Given the description of an element on the screen output the (x, y) to click on. 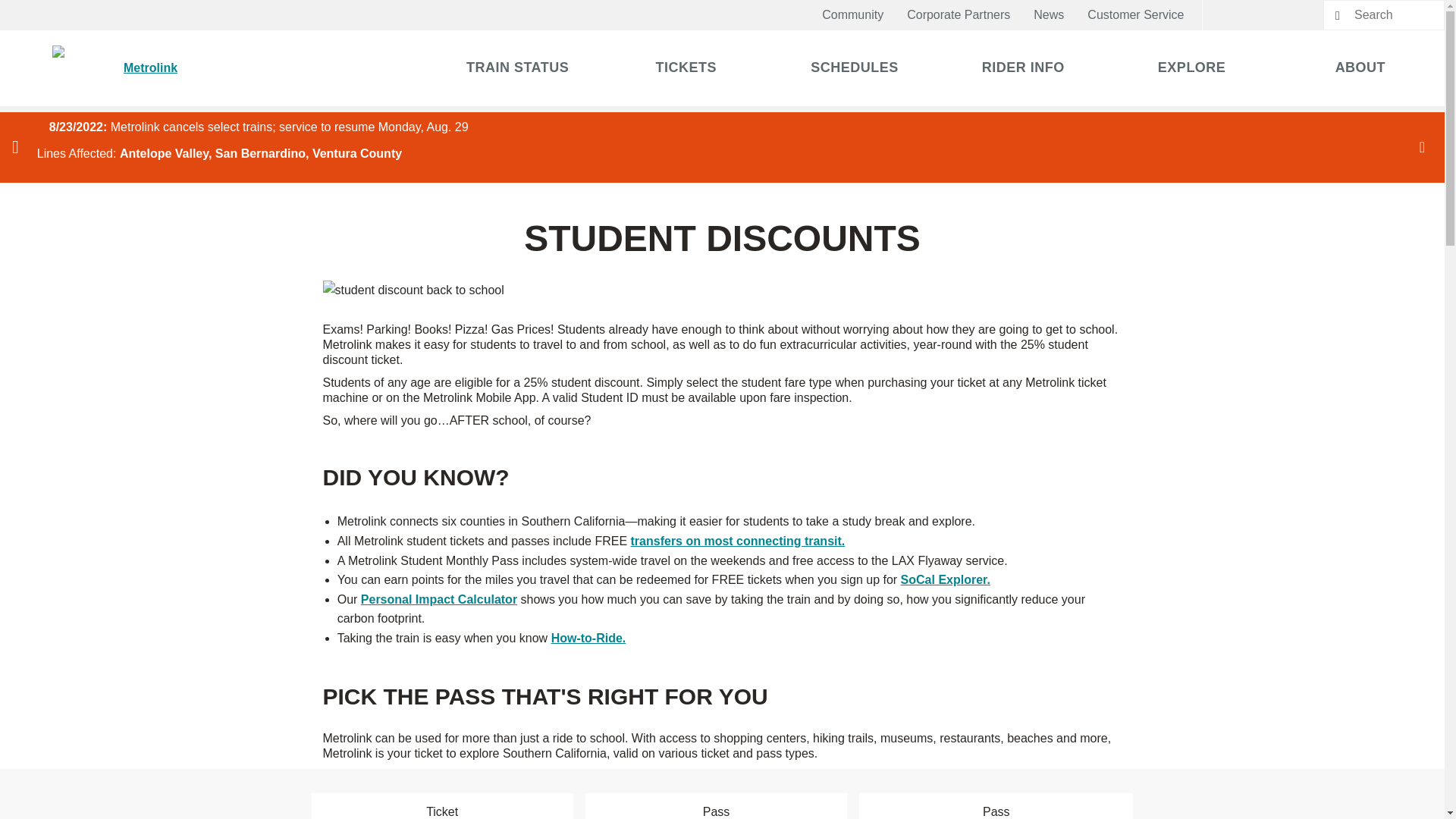
Corporate Partners (958, 14)
TRAIN STATUS (517, 68)
TICKETS (686, 68)
Community (852, 14)
Customer Service (1135, 14)
News (1048, 14)
RIDER INFO (1022, 68)
SCHEDULES (854, 68)
